Given the description of an element on the screen output the (x, y) to click on. 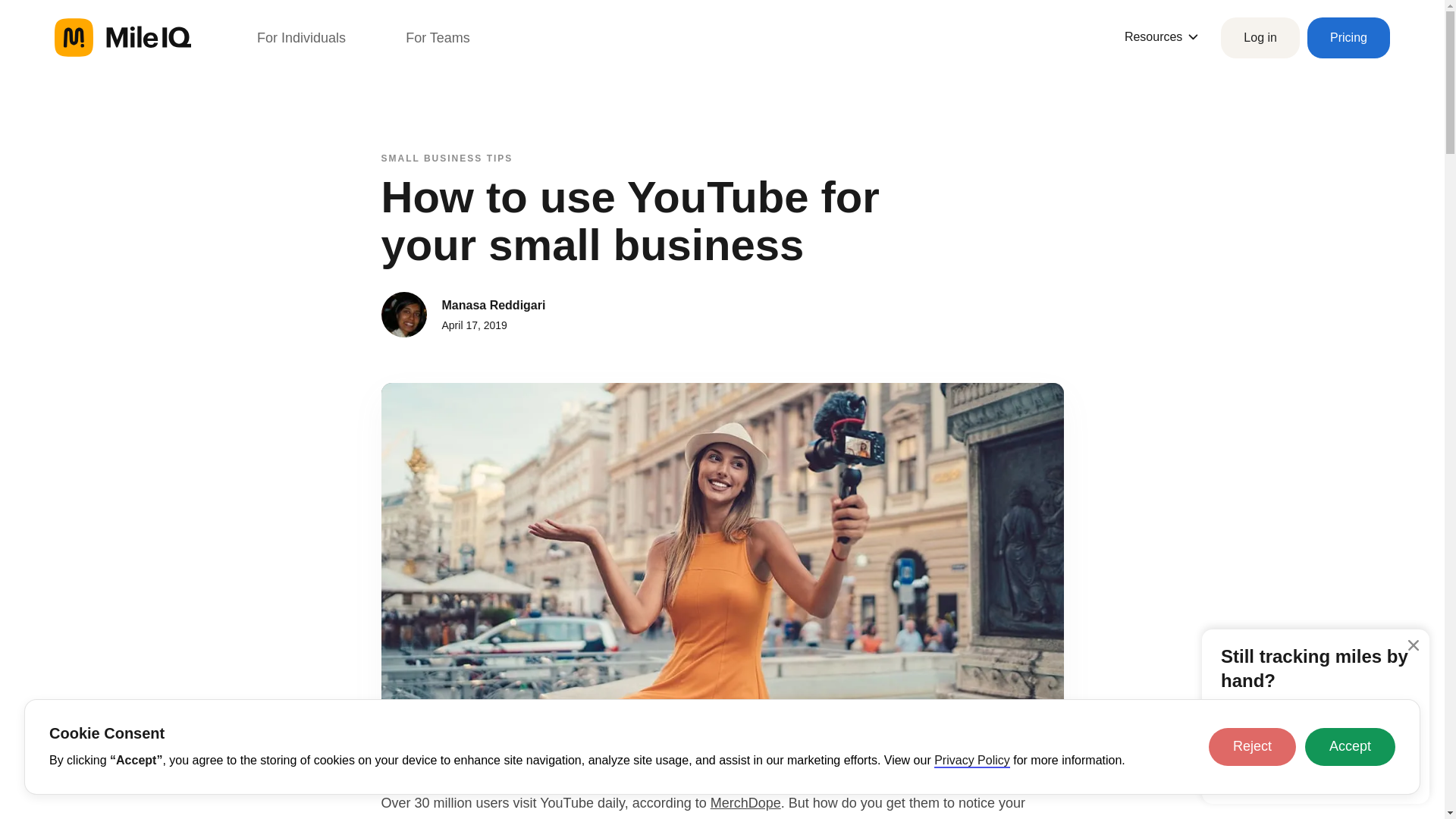
Log in (1260, 37)
For Individuals (300, 37)
Get Started (1320, 767)
For Teams (437, 37)
Resources (1161, 37)
Reject (1251, 746)
Pricing (1348, 37)
Accept (1349, 746)
Privacy Policy (972, 760)
Search (30, 15)
MerchDope (745, 802)
